Given the description of an element on the screen output the (x, y) to click on. 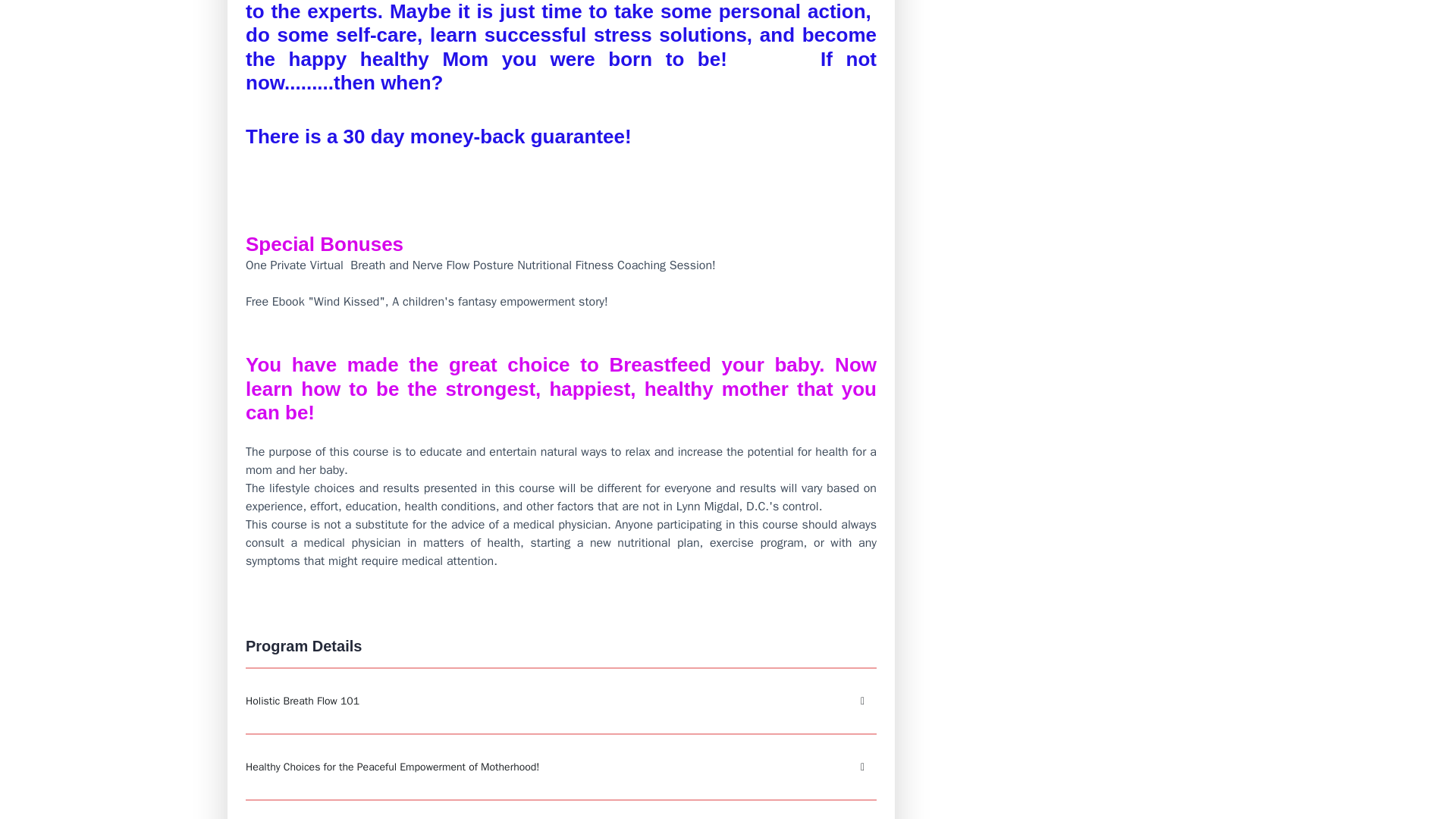
Holistic Breath Flow 101 (561, 700)
Healthy Choices for the Peaceful Empowerment of Motherhood! (561, 766)
